Given the description of an element on the screen output the (x, y) to click on. 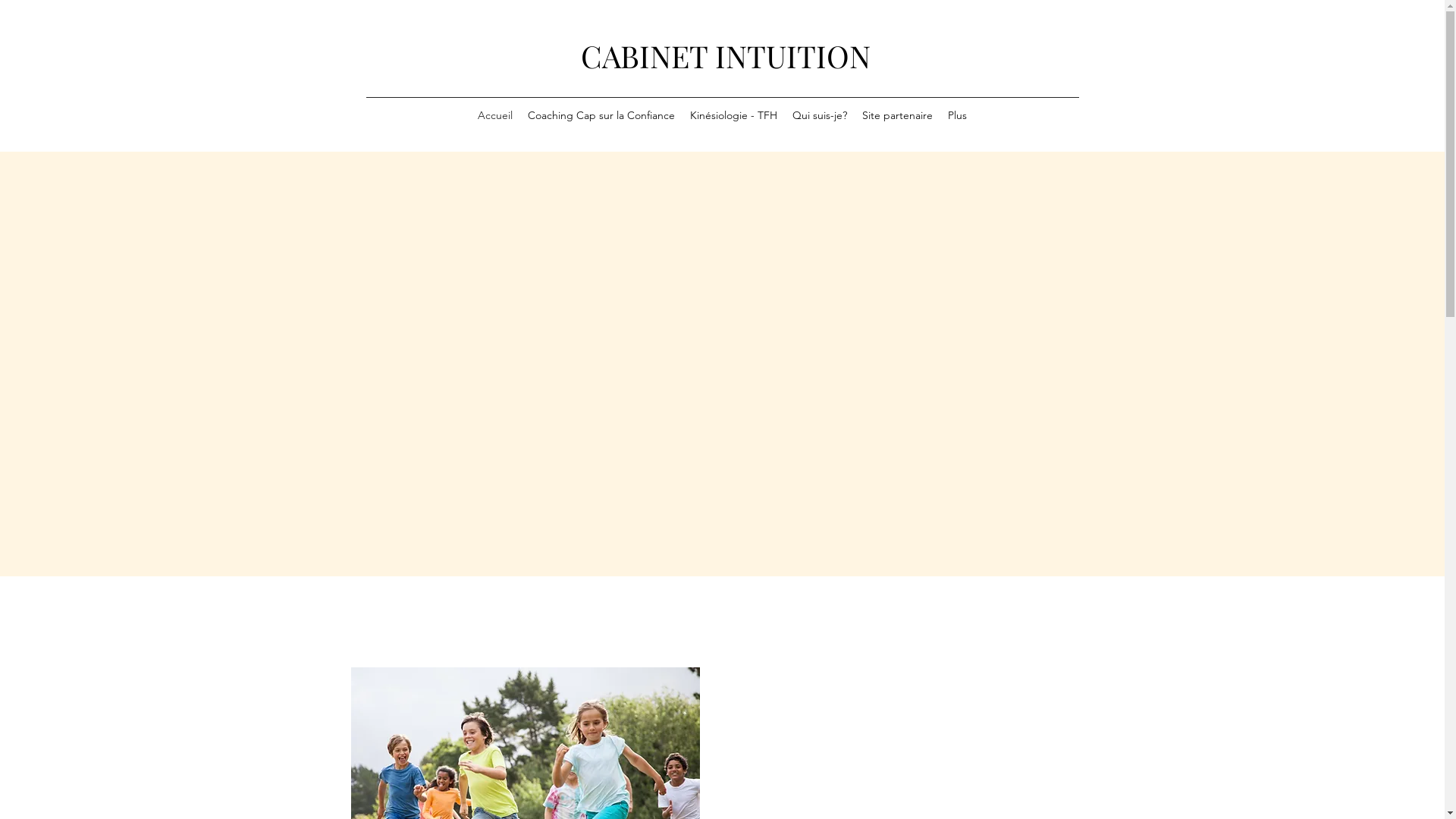
CABINET INTUITION Element type: text (725, 55)
Accueil Element type: text (495, 117)
Site partenaire Element type: text (897, 117)
Qui suis-je? Element type: text (819, 117)
Coaching Cap sur la Confiance Element type: text (601, 117)
